Given the description of an element on the screen output the (x, y) to click on. 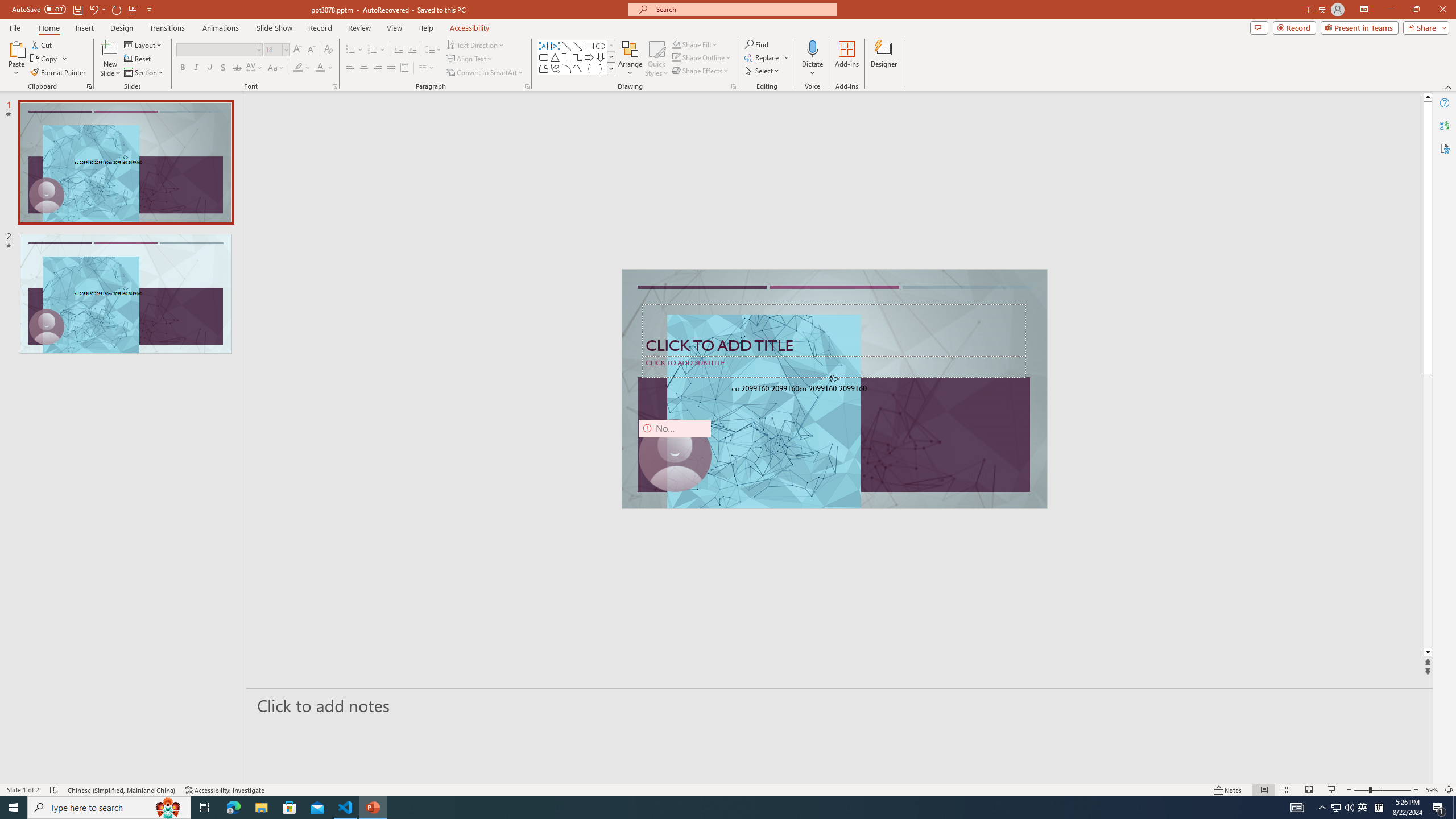
TextBox 61 (833, 389)
TextBox 7 (829, 378)
